Given the description of an element on the screen output the (x, y) to click on. 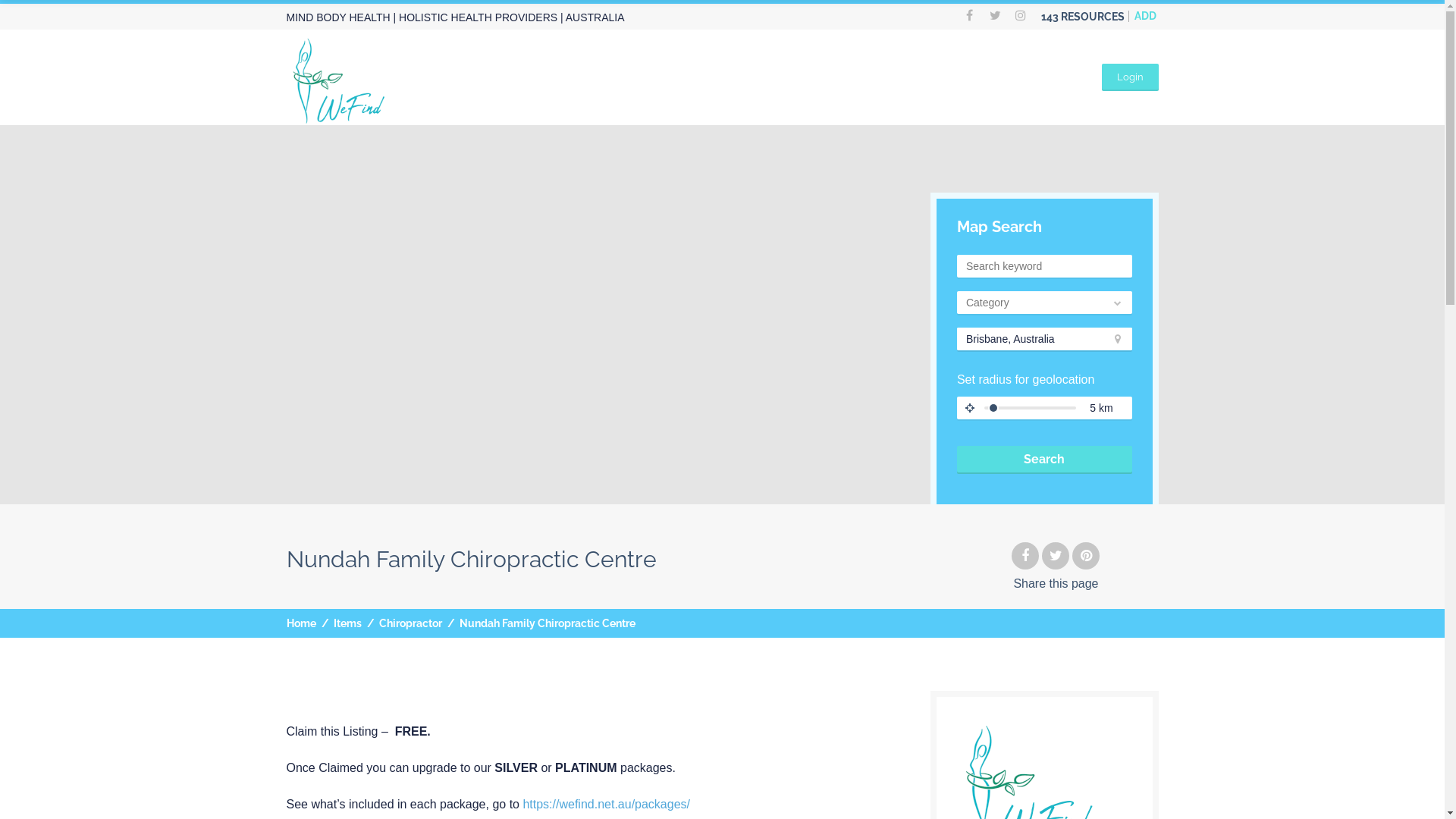
Login Element type: text (1129, 77)
Home Element type: text (301, 623)
ADD Element type: text (1144, 15)
Items Element type: text (347, 623)
Chiropractor Element type: text (410, 623)
https://wefind.net.au/packages/ Element type: text (606, 803)
Category Element type: text (1044, 302)
Search Element type: text (1044, 459)
